Given the description of an element on the screen output the (x, y) to click on. 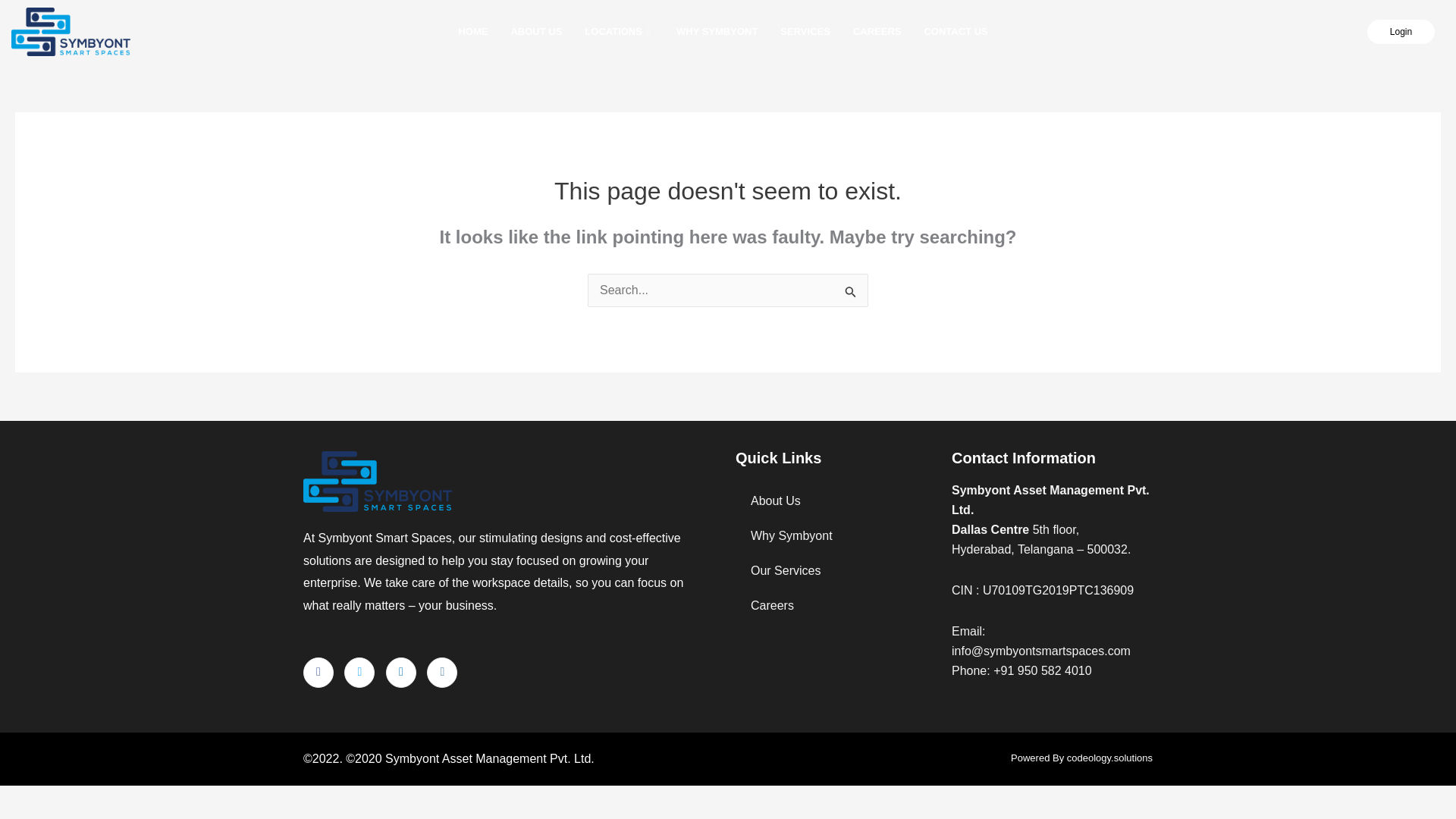
Careers (835, 605)
About Us (835, 501)
CAREERS (876, 31)
LOCATIONS (619, 31)
CONTACT US (955, 31)
Our Services (835, 570)
HOME (472, 31)
Why Symbyont (835, 535)
SERVICES (804, 31)
Login (1400, 31)
